Given the description of an element on the screen output the (x, y) to click on. 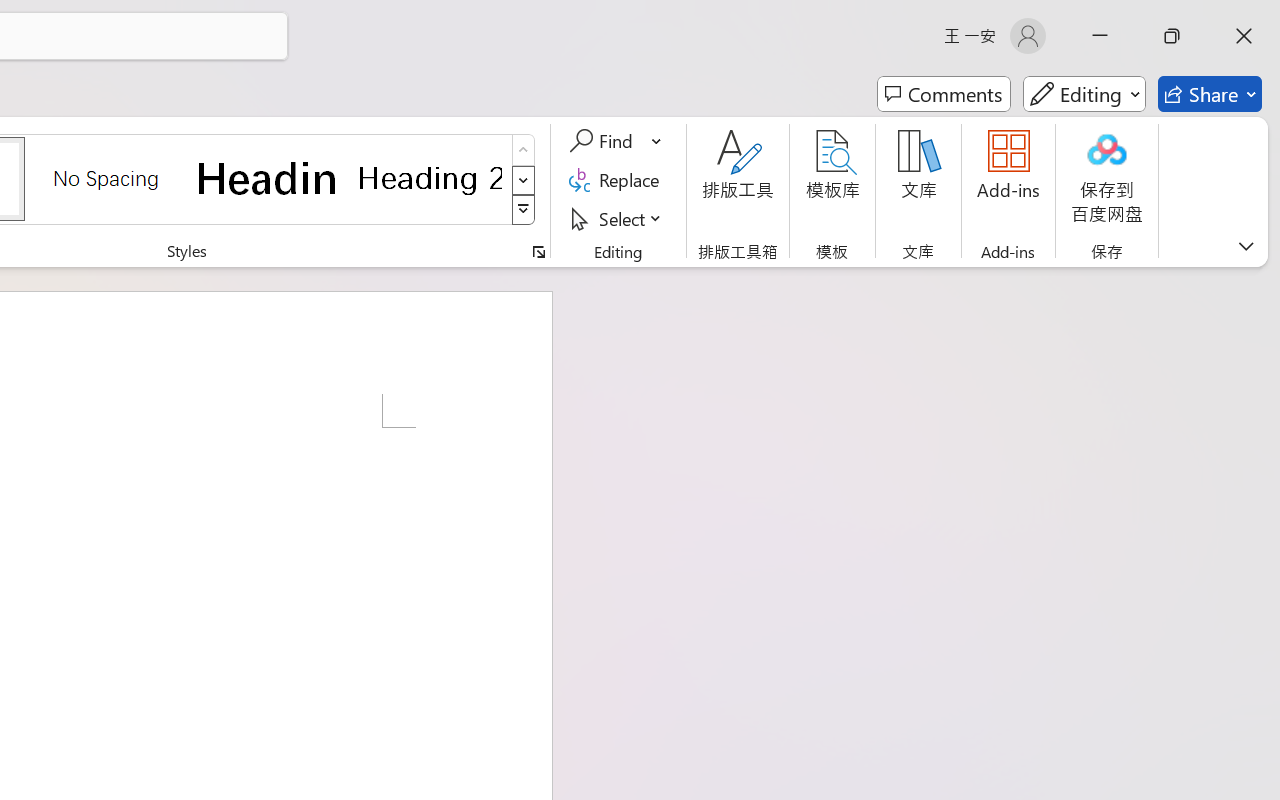
Heading 2 (429, 178)
Styles (523, 209)
Row up (523, 150)
Select (618, 218)
Replace... (617, 179)
